Given the description of an element on the screen output the (x, y) to click on. 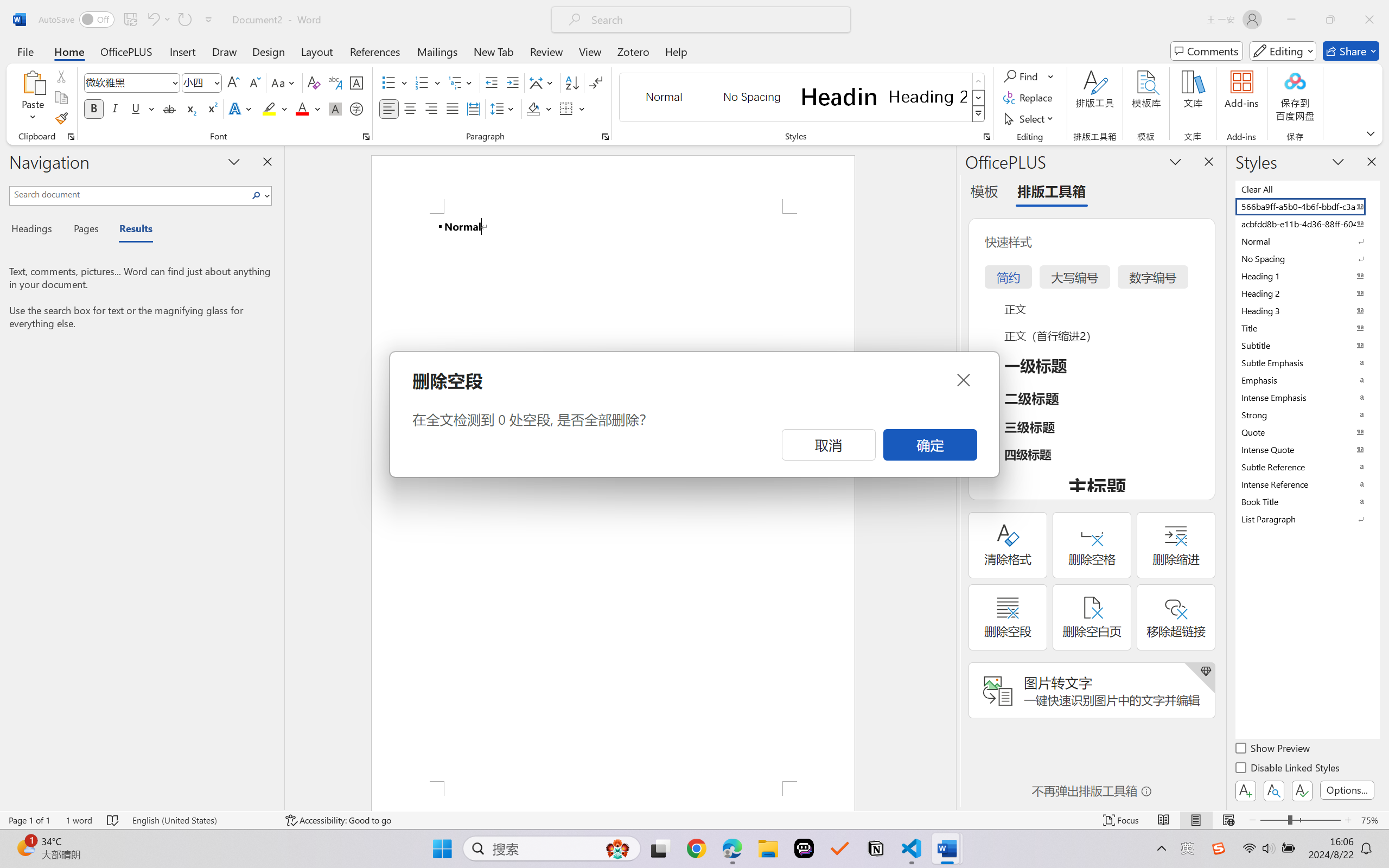
Borders (571, 108)
Row Down (978, 97)
Styles... (986, 136)
Zoom (1300, 819)
Quick Access Toolbar (127, 19)
Heading 3 (1306, 310)
Page Number Page 1 of 1 (29, 819)
New Tab (493, 51)
